Given the description of an element on the screen output the (x, y) to click on. 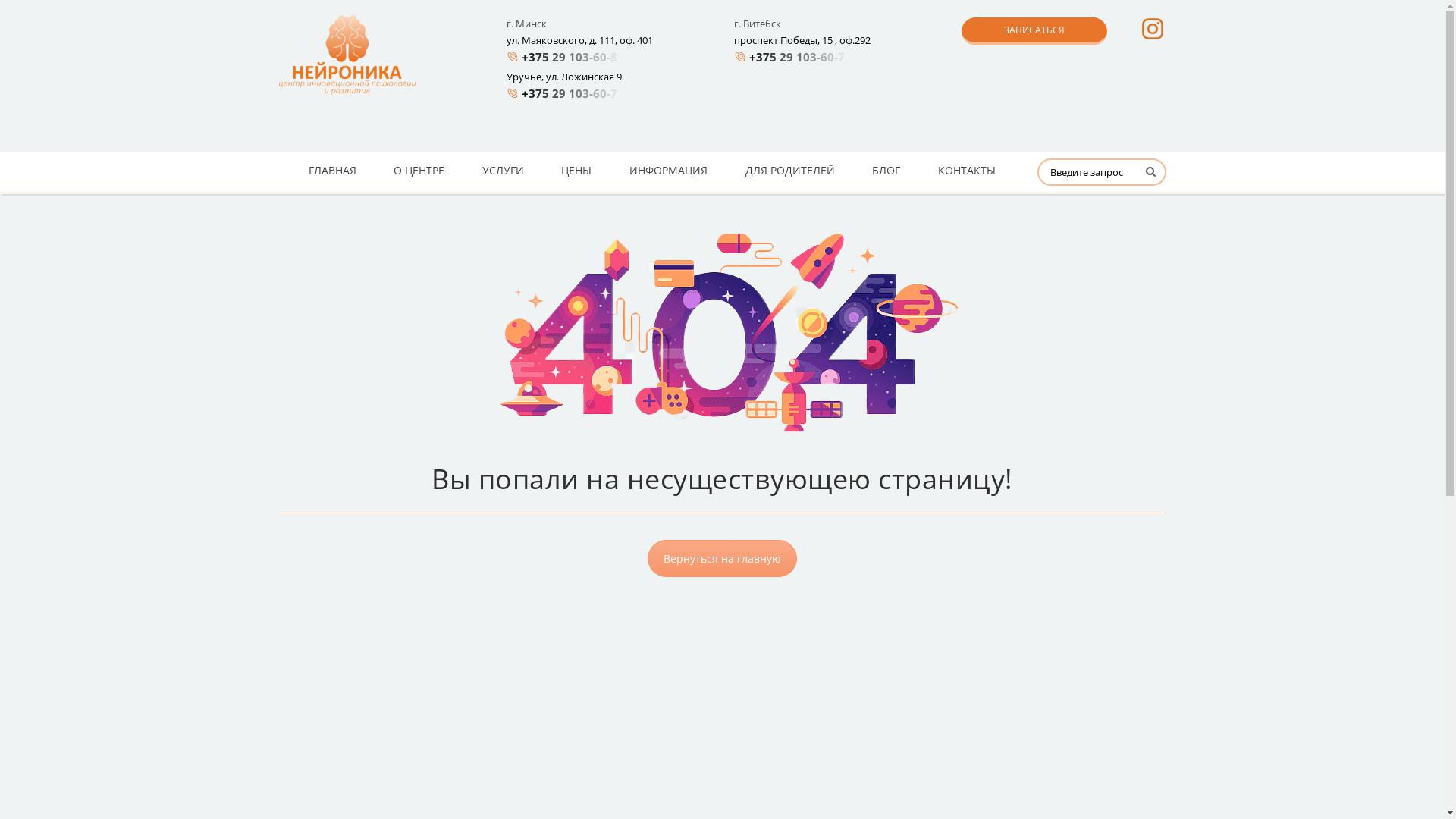
+375 29 103-60-7 Element type: text (572, 92)
+375 29 103-60-8 Element type: text (572, 56)
Go Element type: text (1148, 177)
+375 29 103-60-7 Element type: text (800, 56)
